Given the description of an element on the screen output the (x, y) to click on. 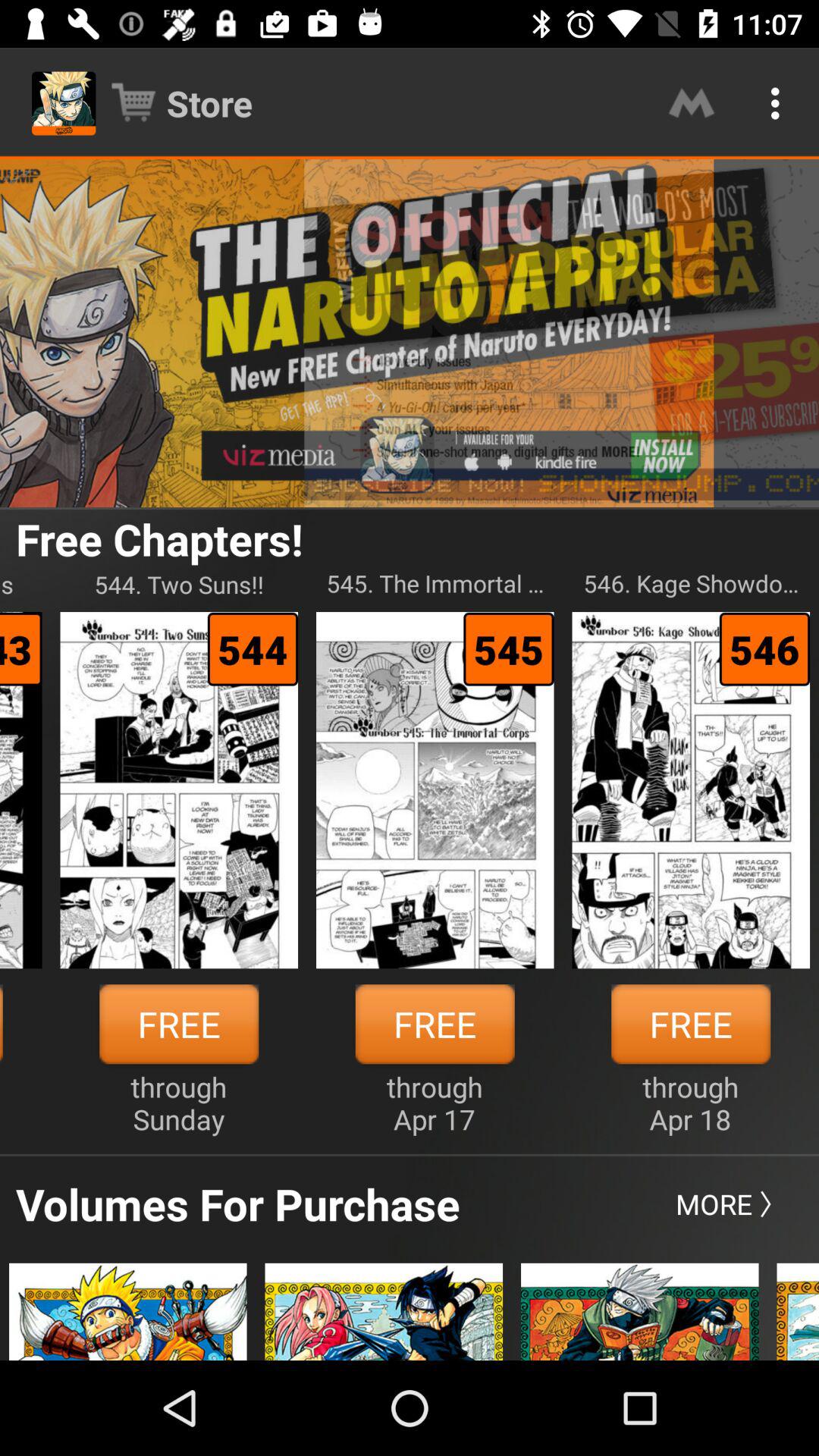
click item below free chapters! item (435, 584)
